Given the description of an element on the screen output the (x, y) to click on. 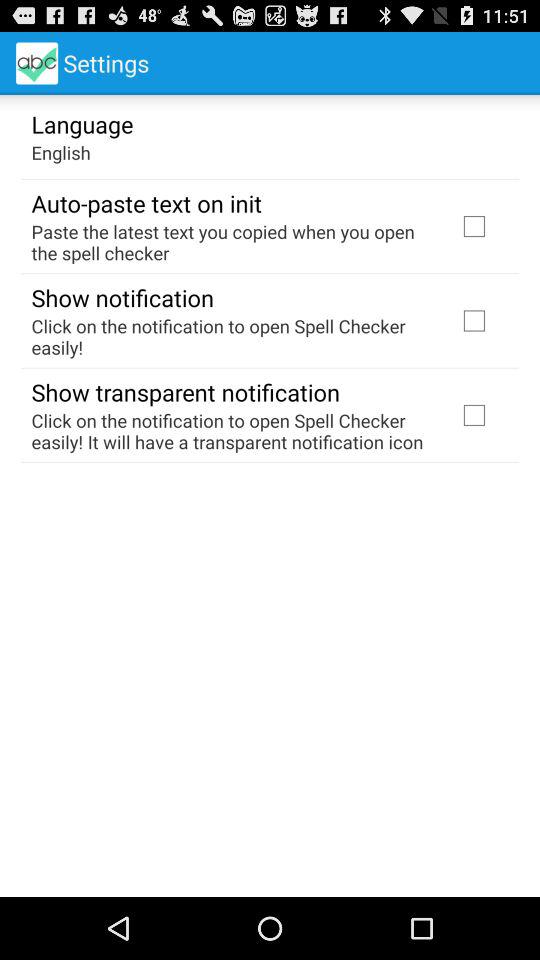
scroll to the paste the latest item (231, 242)
